Given the description of an element on the screen output the (x, y) to click on. 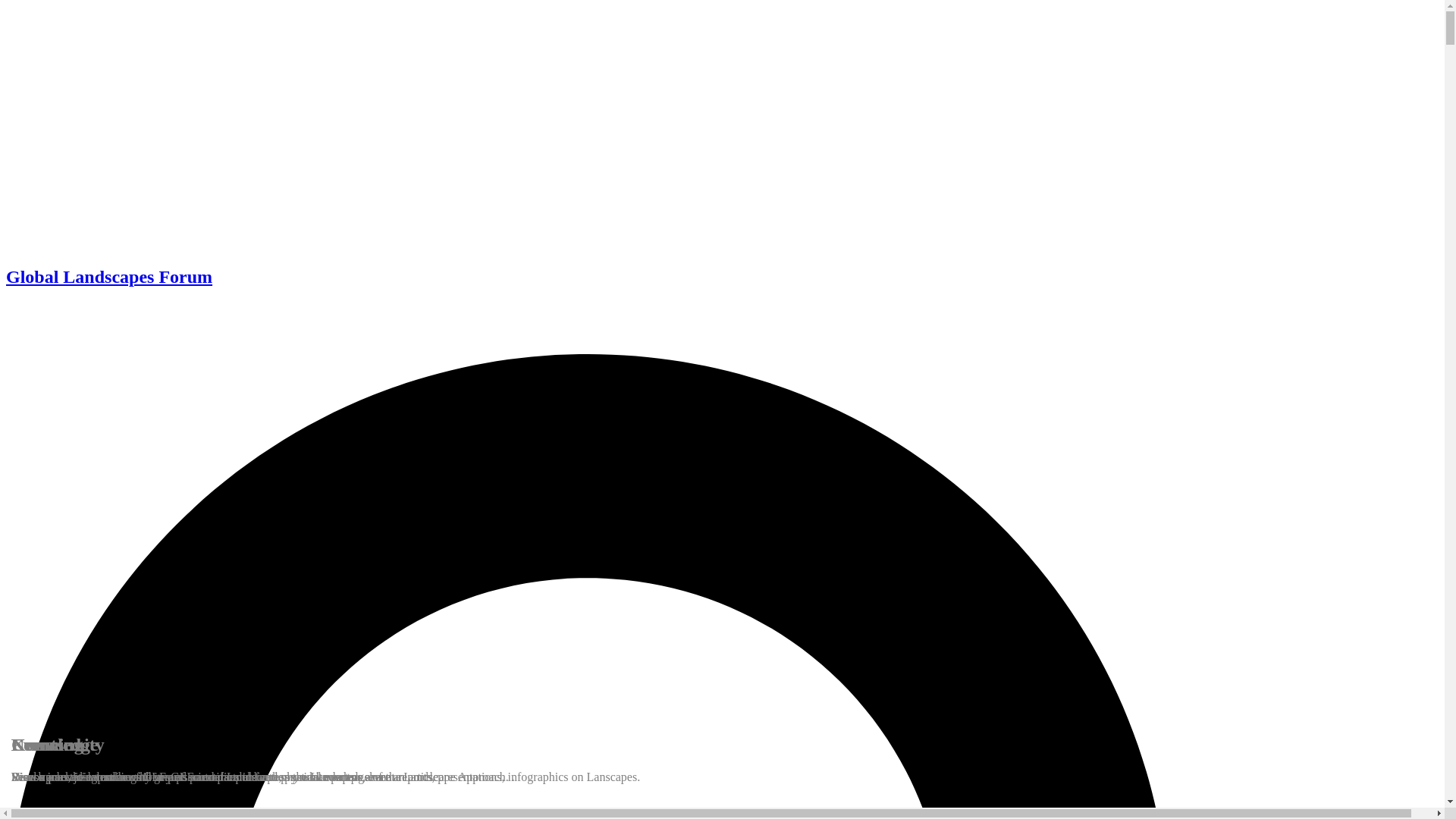
Global Landscapes Forum (108, 276)
About Us (48, 327)
